Given the description of an element on the screen output the (x, y) to click on. 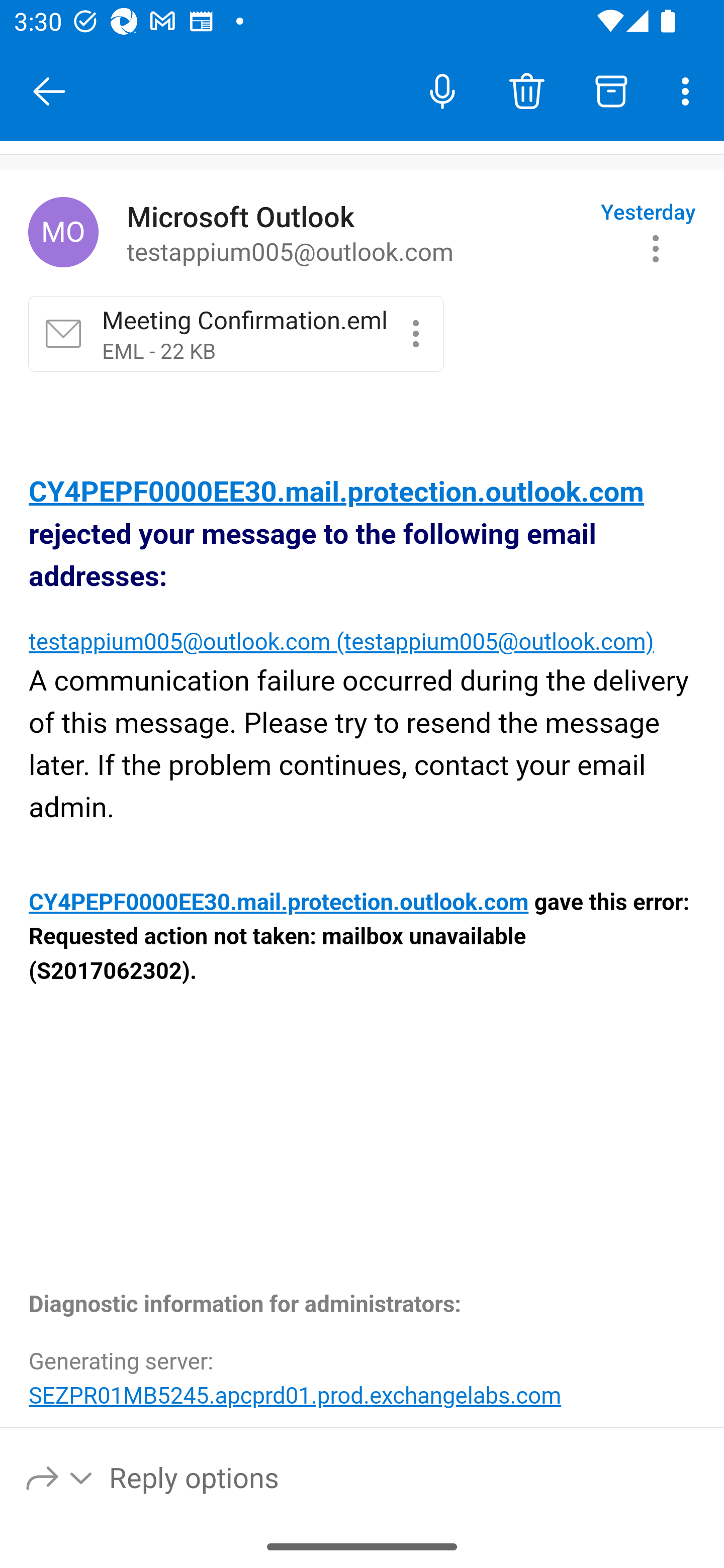
Close (49, 91)
Delete (526, 90)
Archive (611, 90)
More options (688, 90)
Microsoft Outlook
to testappium005@outlook.com (356, 232)
Message actions (655, 248)
Meeting Confirmation.eml (415, 333)
CY4PEPF0000EE30.mail.protection.outlook.com (336, 492)
CY4PEPF0000EE30.mail.protection.outlook.com (278, 903)
SEZPR01MB5245.apcprd01.prod.exchangelabs.com (294, 1395)
Reply options (59, 1476)
